Given the description of an element on the screen output the (x, y) to click on. 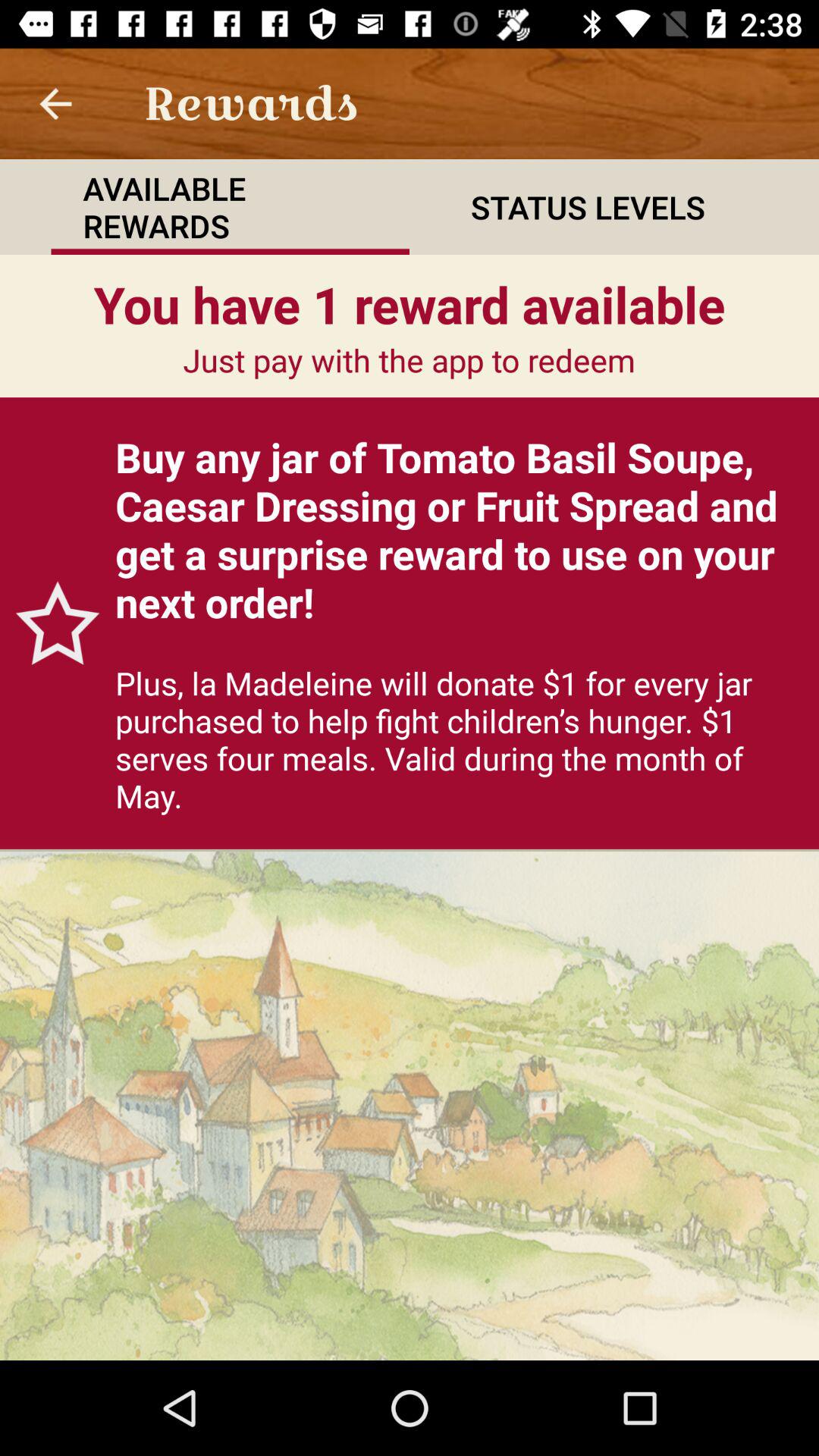
tap the buy any jar icon (459, 529)
